Given the description of an element on the screen output the (x, y) to click on. 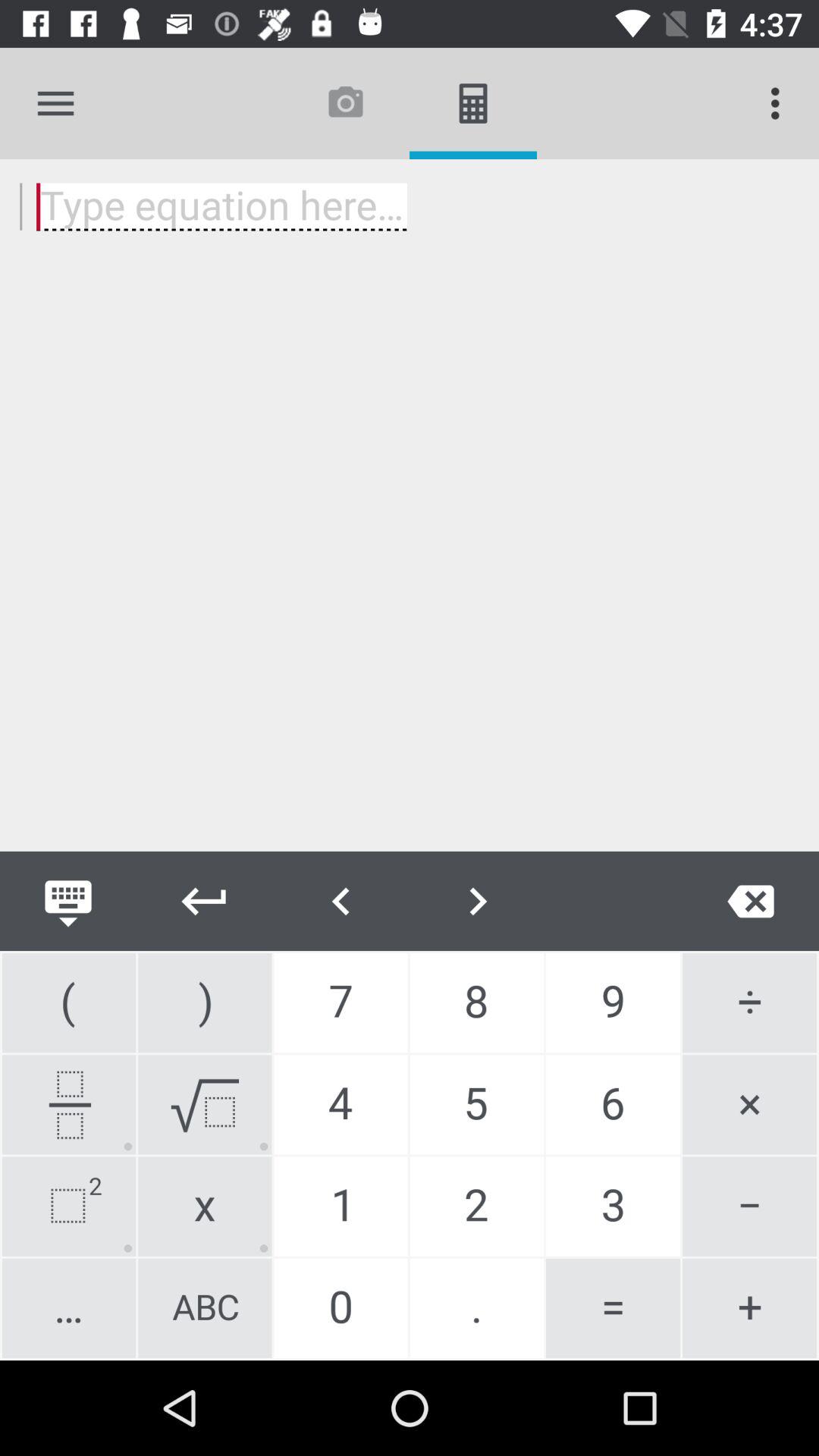
backspace (750, 900)
